Given the description of an element on the screen output the (x, y) to click on. 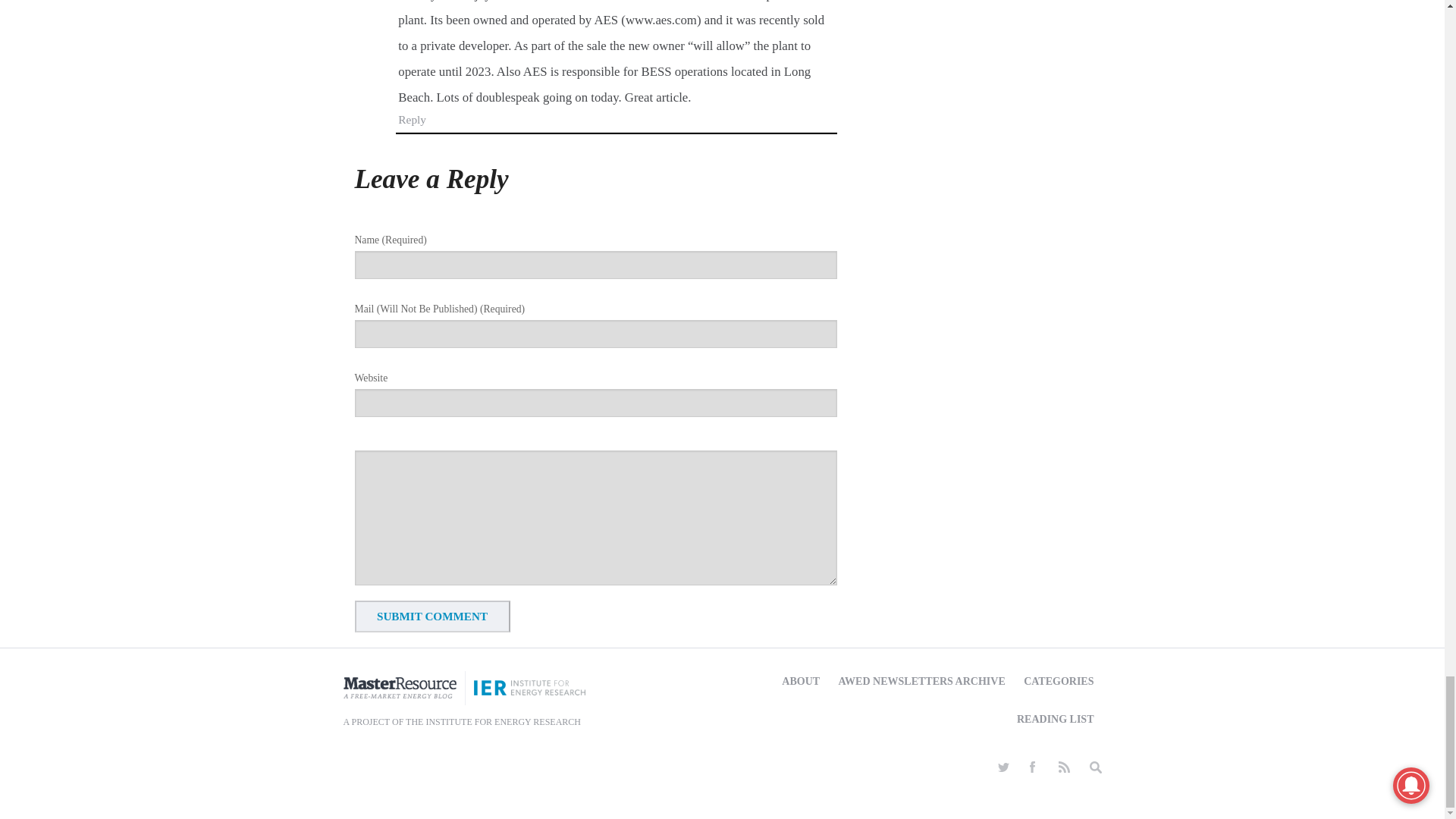
Submit Comment (433, 616)
Submit Comment (433, 616)
Reply (411, 119)
